Given the description of an element on the screen output the (x, y) to click on. 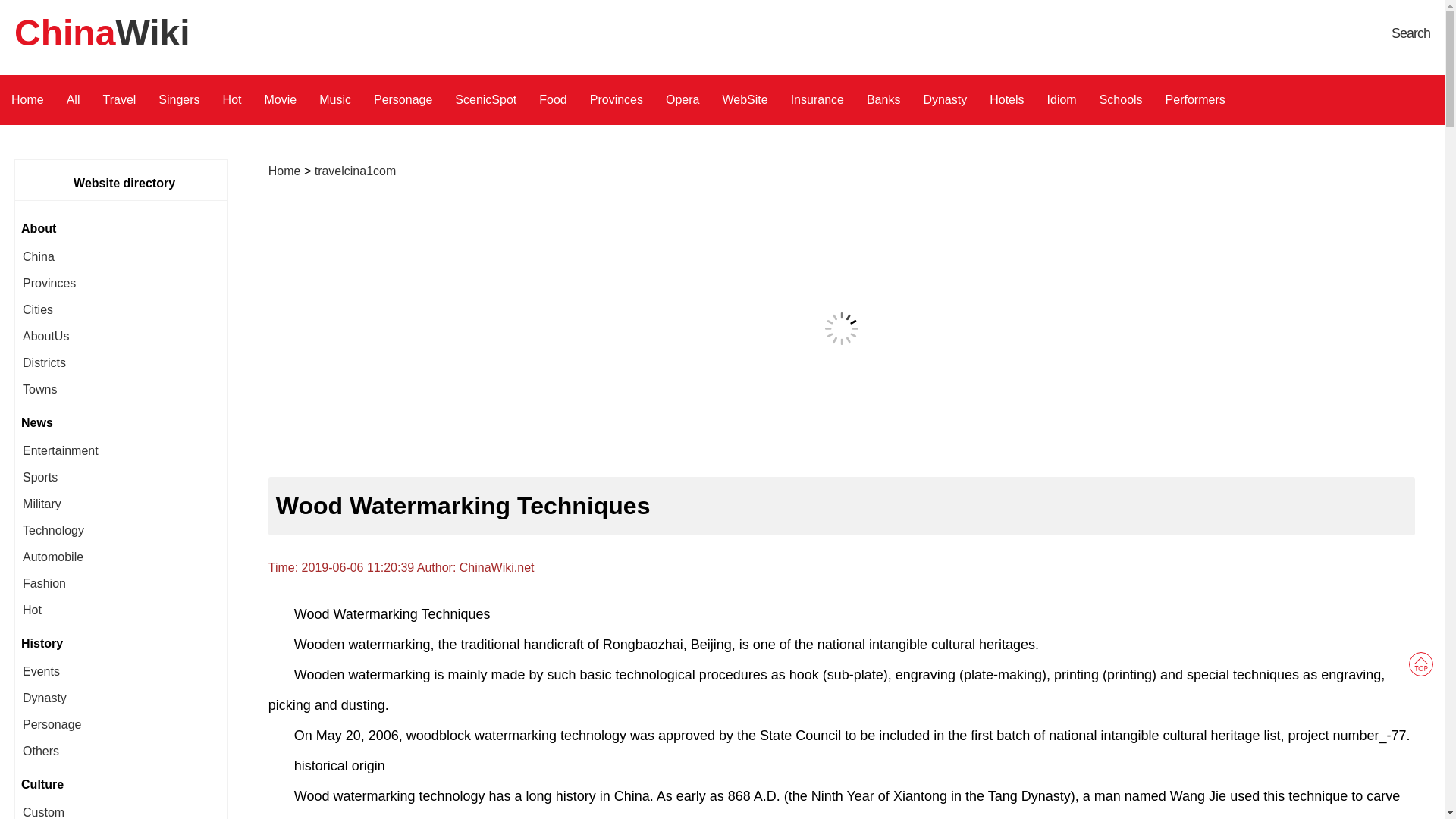
Personage (403, 100)
china wiki (355, 170)
ChinaWiki.net (497, 567)
ChinaWiki (102, 33)
china wiki (497, 567)
Performers (1195, 100)
Insurance (817, 100)
travelcina1com (355, 170)
China Wiki (1410, 32)
china wiki (284, 170)
WebSite (744, 100)
China Wiki (102, 33)
Provinces (616, 100)
Home (284, 170)
ScenicSpot (485, 100)
